Given the description of an element on the screen output the (x, y) to click on. 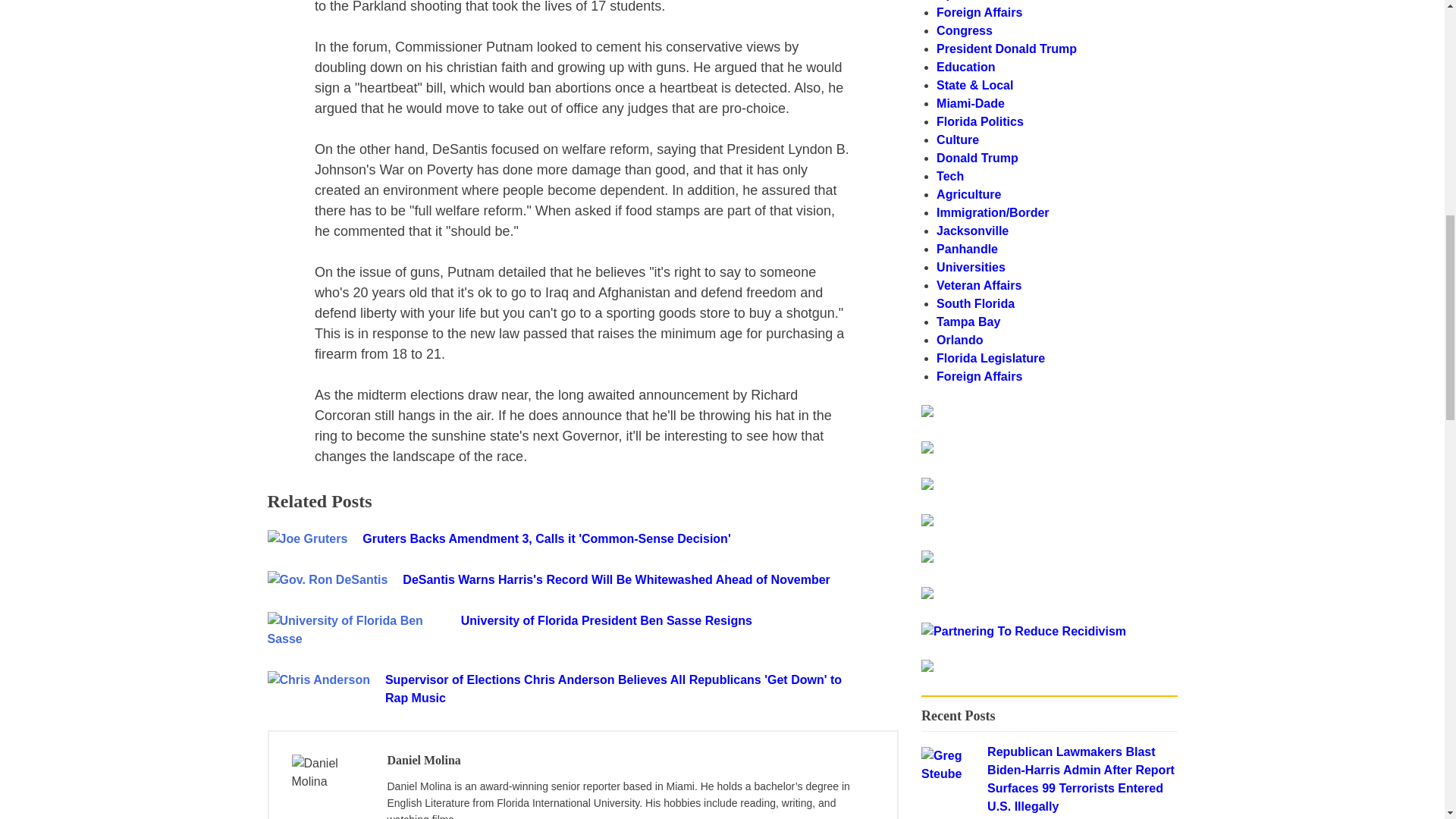
Partnering To Reduce Recidivism (927, 412)
University of Florida President Ben Sasse Resigns (679, 620)
Partnering To Reduce Recidivism (1023, 631)
Search (1138, 419)
Partnering To Reduce Recidivism (1023, 631)
Search (1138, 419)
Search (1138, 419)
Gruters Backs Amendment 3, Calls it 'Common-Sense Decision' (598, 538)
Partnering To Reduce Recidivism (927, 667)
